Given the description of an element on the screen output the (x, y) to click on. 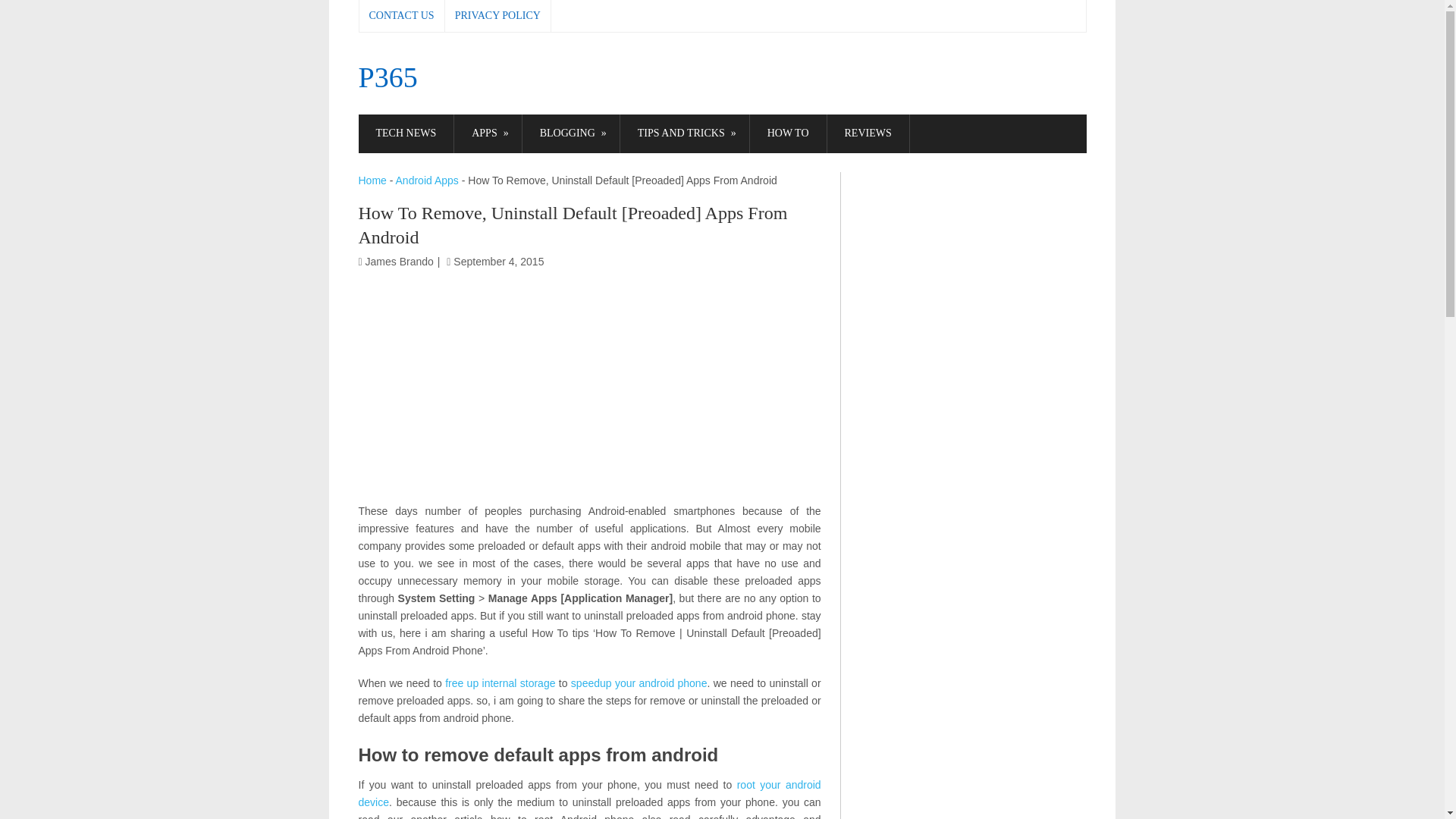
BLOGGING (571, 133)
APPS (487, 133)
P365 (387, 77)
TIPS AND TRICKS (684, 133)
root your android device (589, 793)
HOW TO (788, 133)
James Brando (399, 261)
CONTACT US (402, 15)
REVIEWS (867, 133)
TECH NEWS (405, 133)
